Given the description of an element on the screen output the (x, y) to click on. 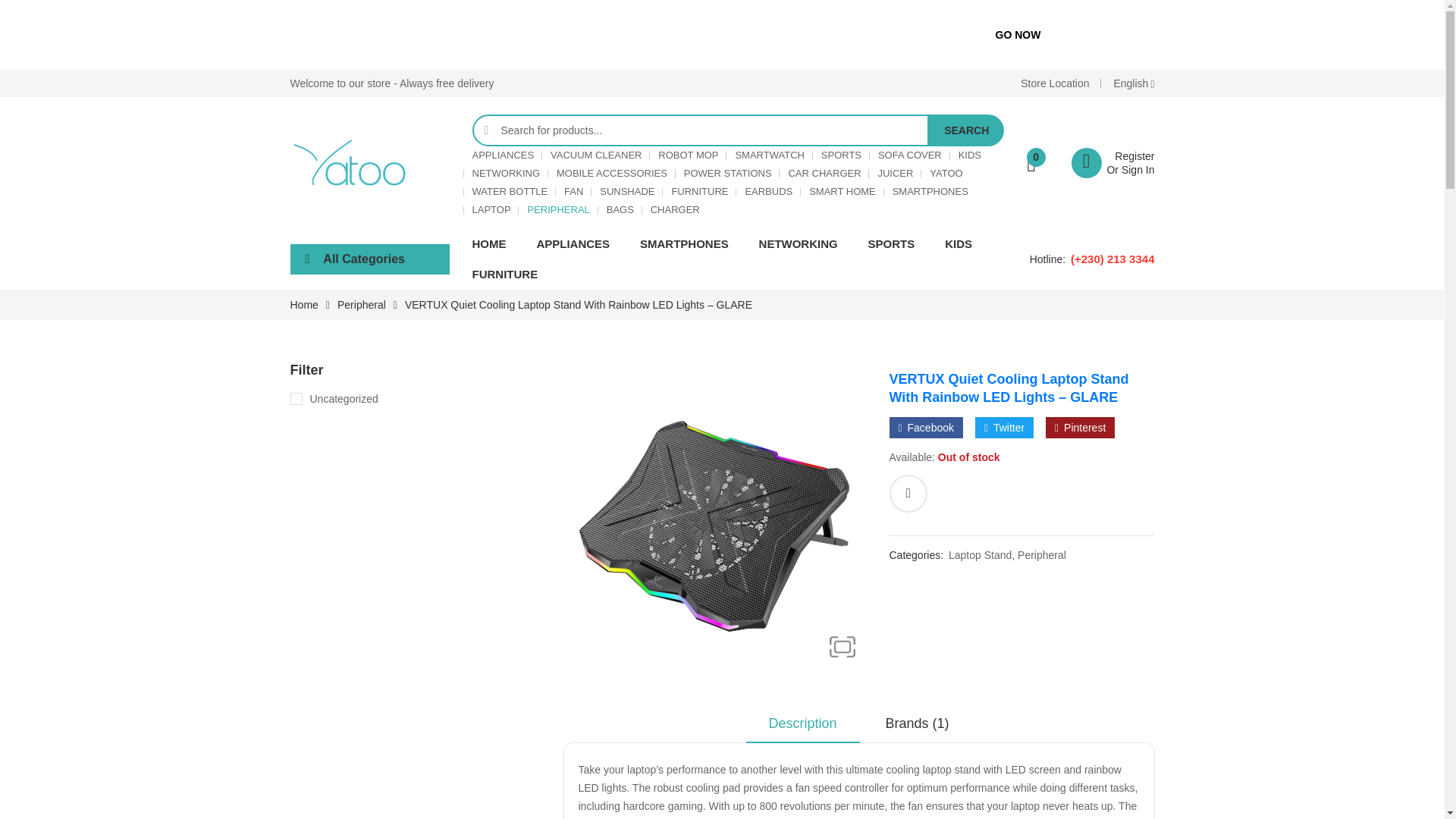
CHARGER (675, 209)
SMARTPHONES (930, 191)
JUICER (894, 173)
0 (1035, 162)
APPLIANCES (502, 155)
FAN (573, 191)
Store Location (1054, 83)
SOFA COVER (909, 155)
Pinterest (1080, 427)
VACUUM CLEANER (1112, 162)
EARBUDS (596, 155)
PERIPHERAL (768, 191)
Facebook (558, 209)
MOBILE ACCESSORIES (925, 427)
